Given the description of an element on the screen output the (x, y) to click on. 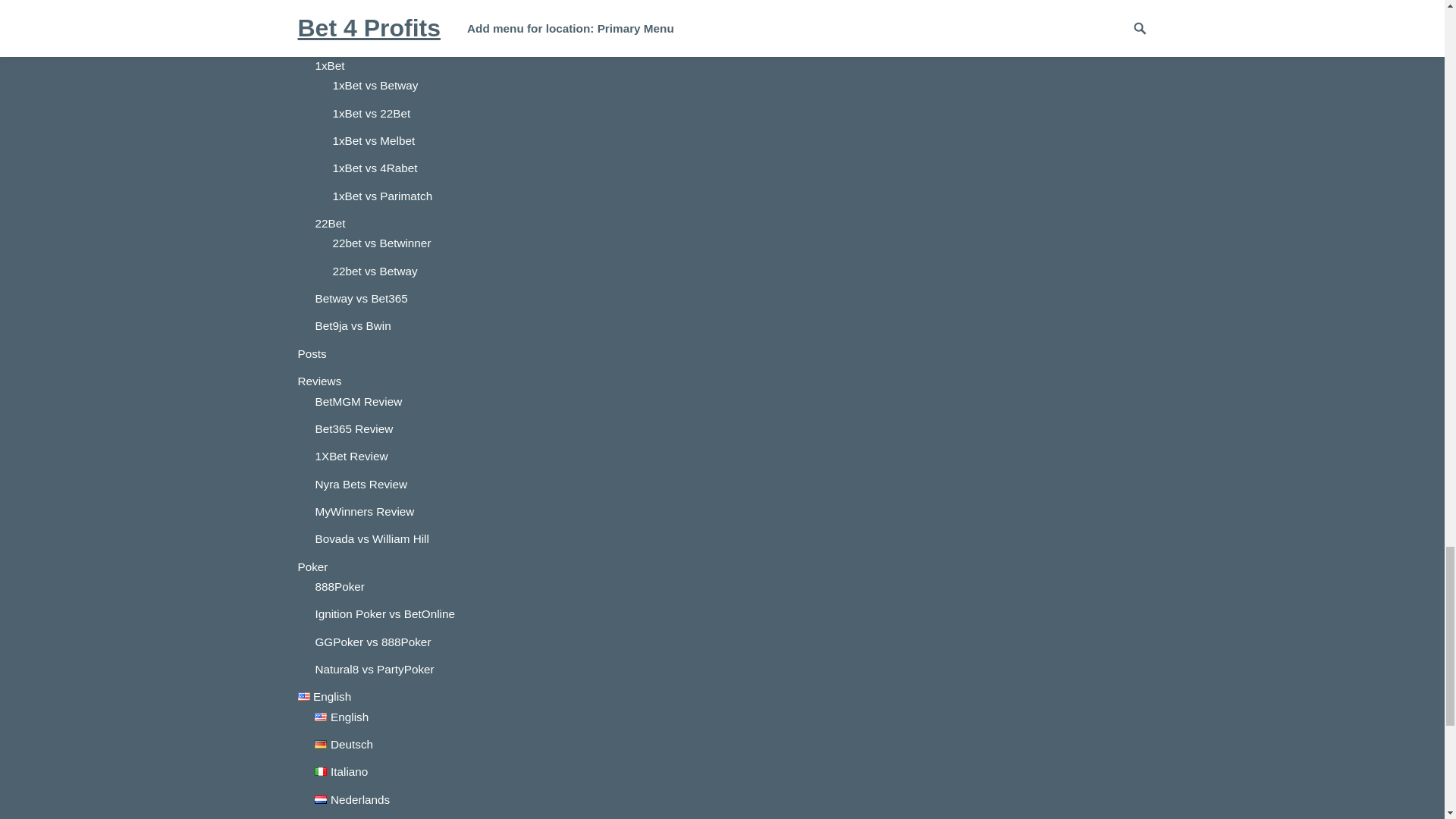
Reviews (318, 380)
Sports Betting (333, 17)
Betway vs Bet365 (360, 297)
1xBet vs 4Rabet (373, 167)
1xBet vs Betway (374, 84)
Bet9ja vs Bwin (352, 325)
1xBet vs Melbet (372, 140)
Sports Books (331, 45)
22bet vs Betway (373, 270)
1xBet vs Parimatch (381, 195)
